Given the description of an element on the screen output the (x, y) to click on. 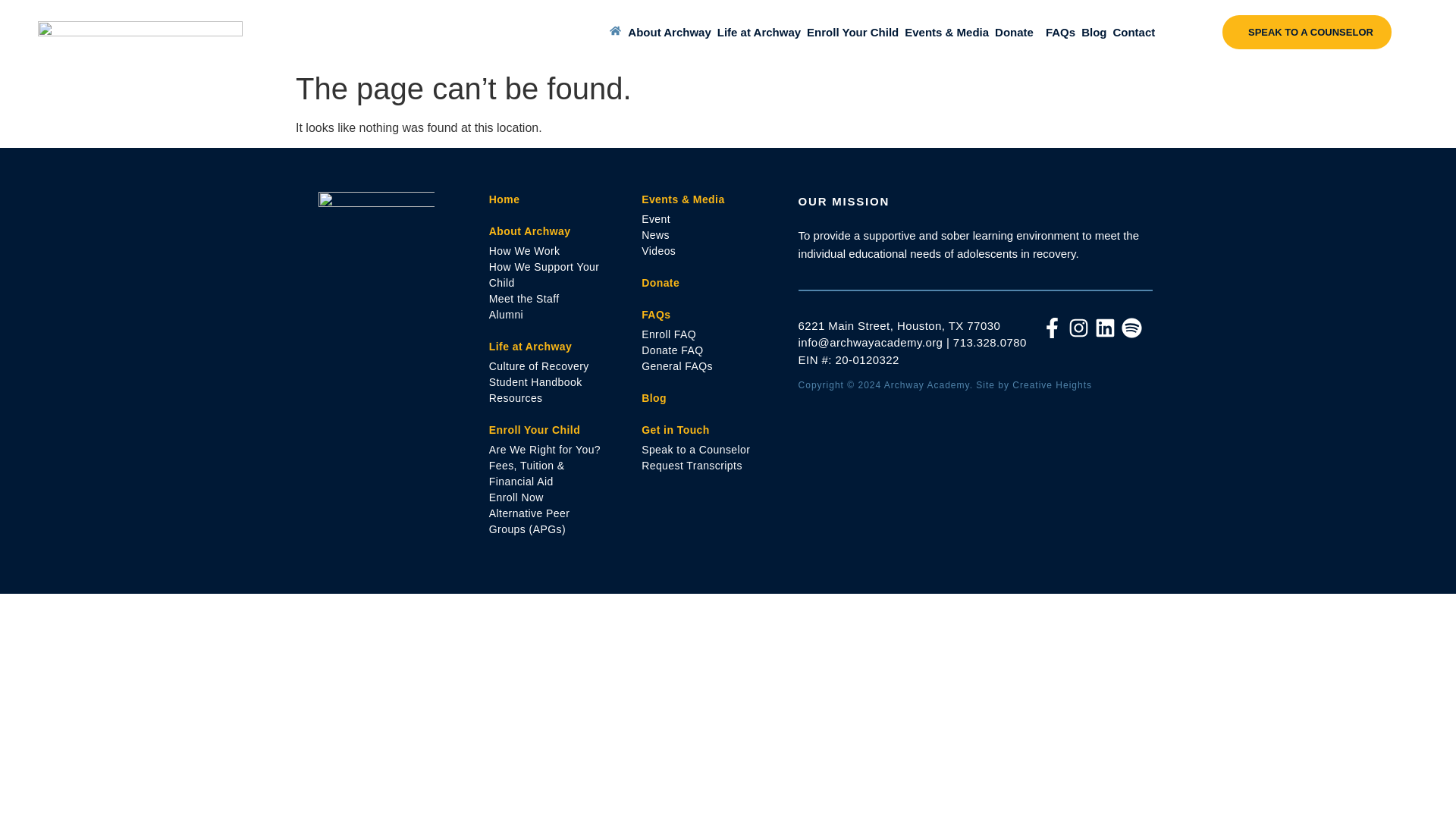
Donate (1013, 31)
Blog (1093, 31)
Enroll Your Child (852, 31)
About Archway (668, 31)
Contact (1133, 31)
FAQs (1060, 31)
Life at Archway (758, 31)
